Given the description of an element on the screen output the (x, y) to click on. 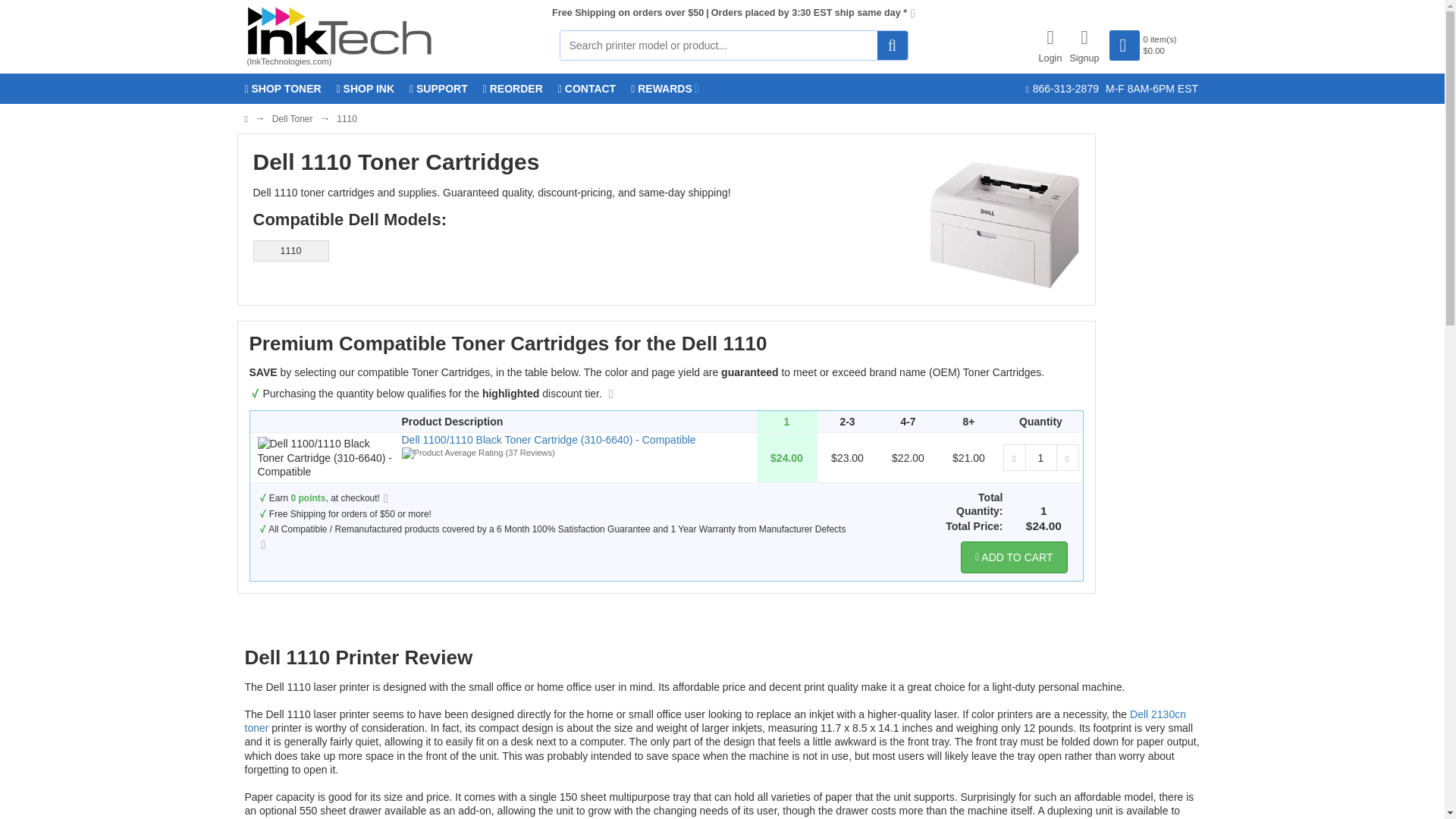
SHOP TONER (282, 88)
1 (1040, 457)
InkTechnologies.com Homepage (338, 30)
